Given the description of an element on the screen output the (x, y) to click on. 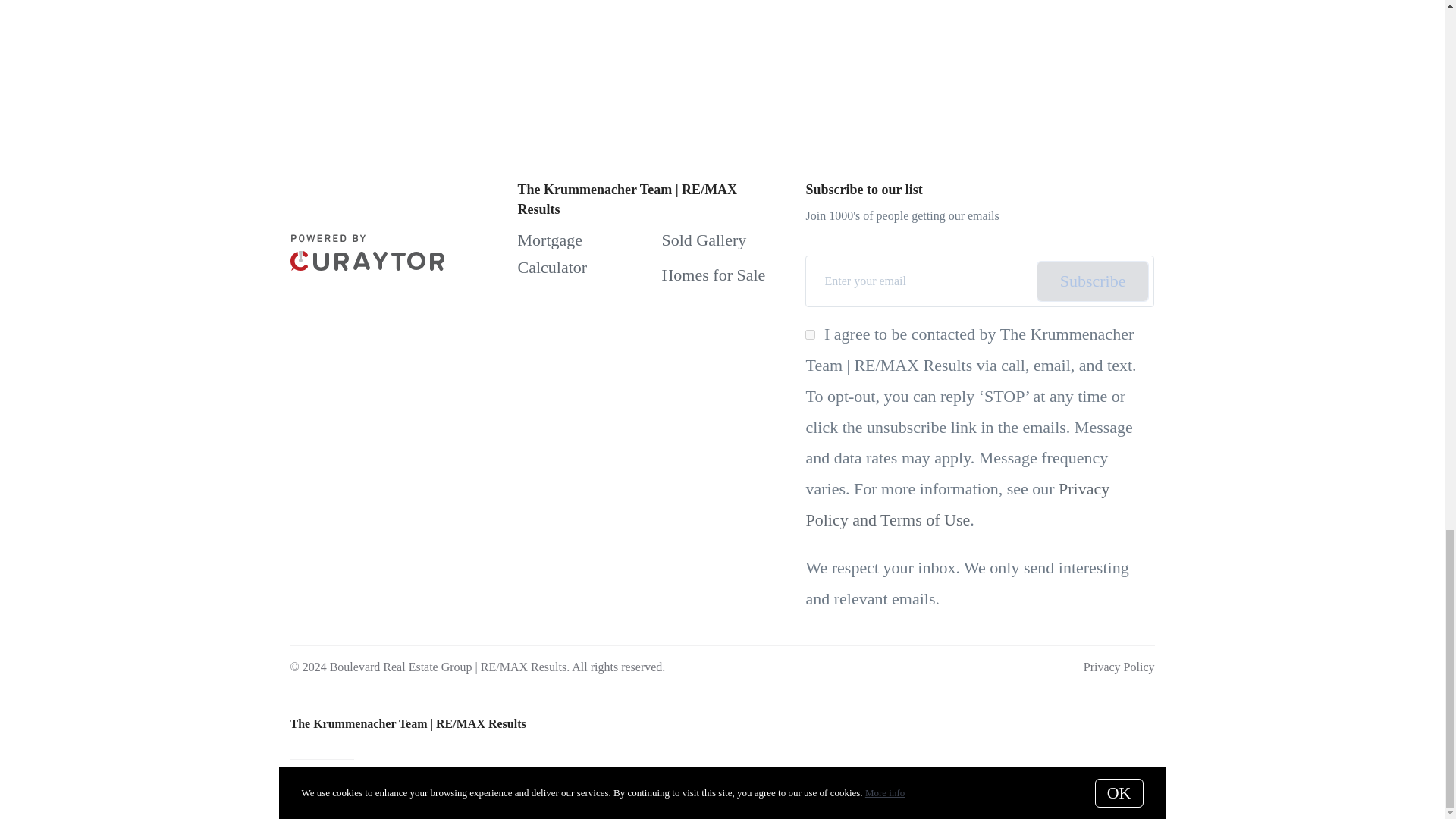
on (810, 334)
curaytor-horizontal (366, 252)
